Given the description of an element on the screen output the (x, y) to click on. 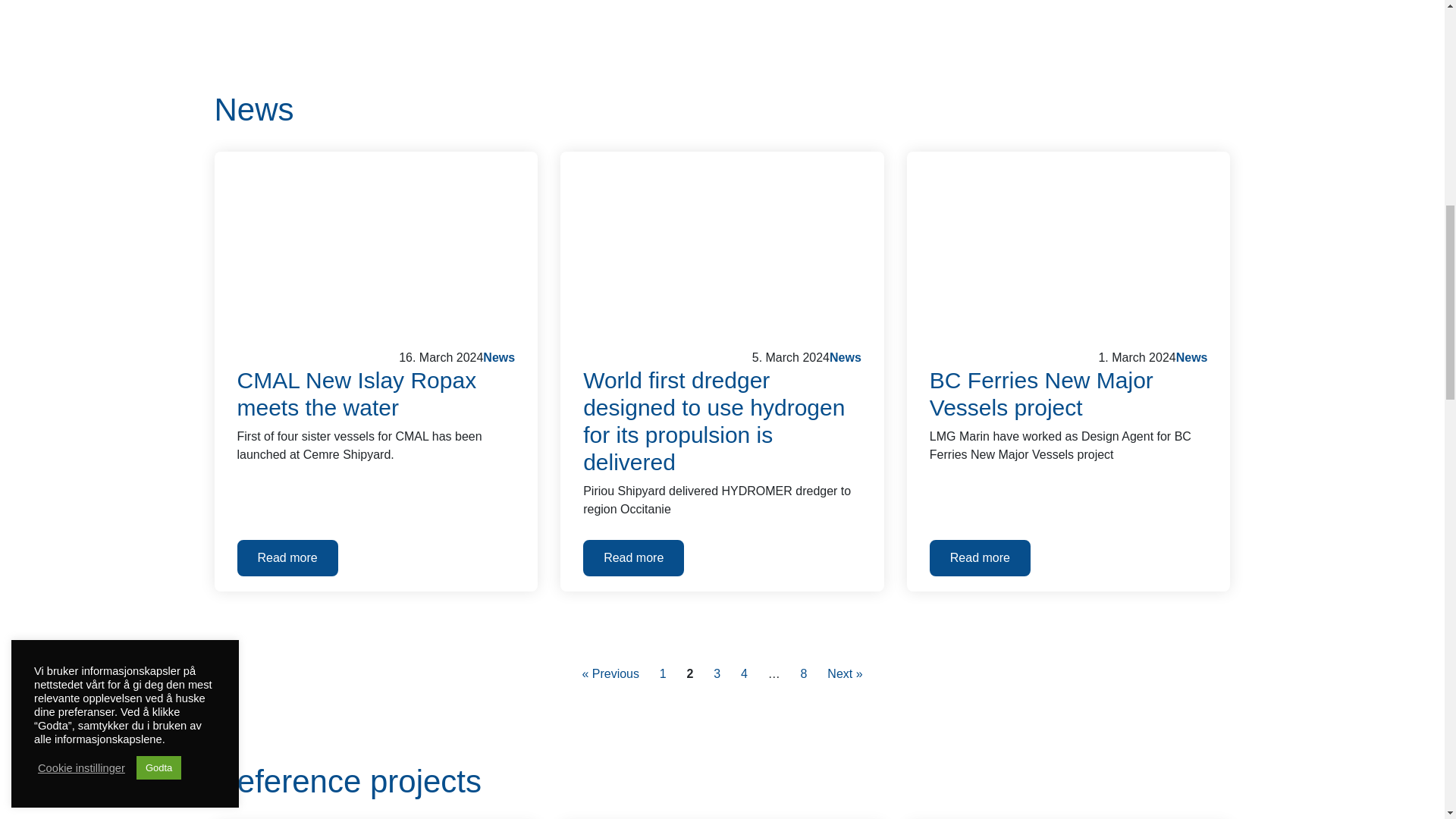
CMAL New Islay Ropax meets the water (375, 393)
Read more (286, 557)
1 (662, 673)
BC Ferries New Major Vessels project (1068, 246)
Read more (633, 557)
Read more (980, 557)
Reference projects (722, 781)
CMAL New Islay Ropax meets the water (375, 246)
News (722, 109)
4 (743, 673)
BC Ferries New Major Vessels project (1069, 393)
8 (803, 673)
3 (716, 673)
